Given the description of an element on the screen output the (x, y) to click on. 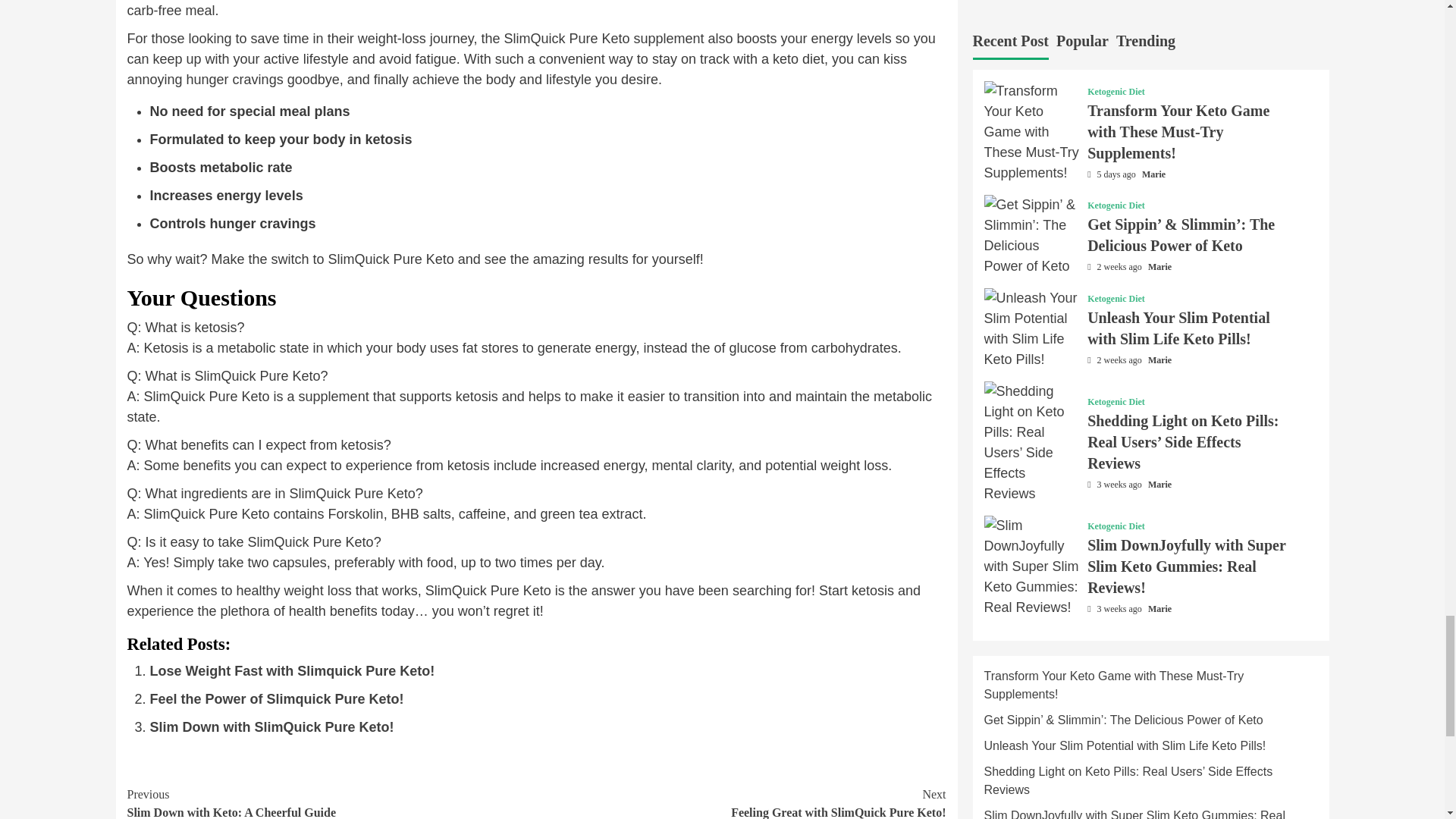
Lose Weight Fast with Slimquick Pure Keto! (292, 670)
Slim Down with SlimQuick Pure Keto! (741, 802)
Feel the Power of Slimquick Pure Keto! (271, 726)
Slim Down with SlimQuick Pure Keto! (276, 698)
Feel the Power of Slimquick Pure Keto! (271, 726)
Lose Weight Fast with Slimquick Pure Keto! (276, 698)
